Given the description of an element on the screen output the (x, y) to click on. 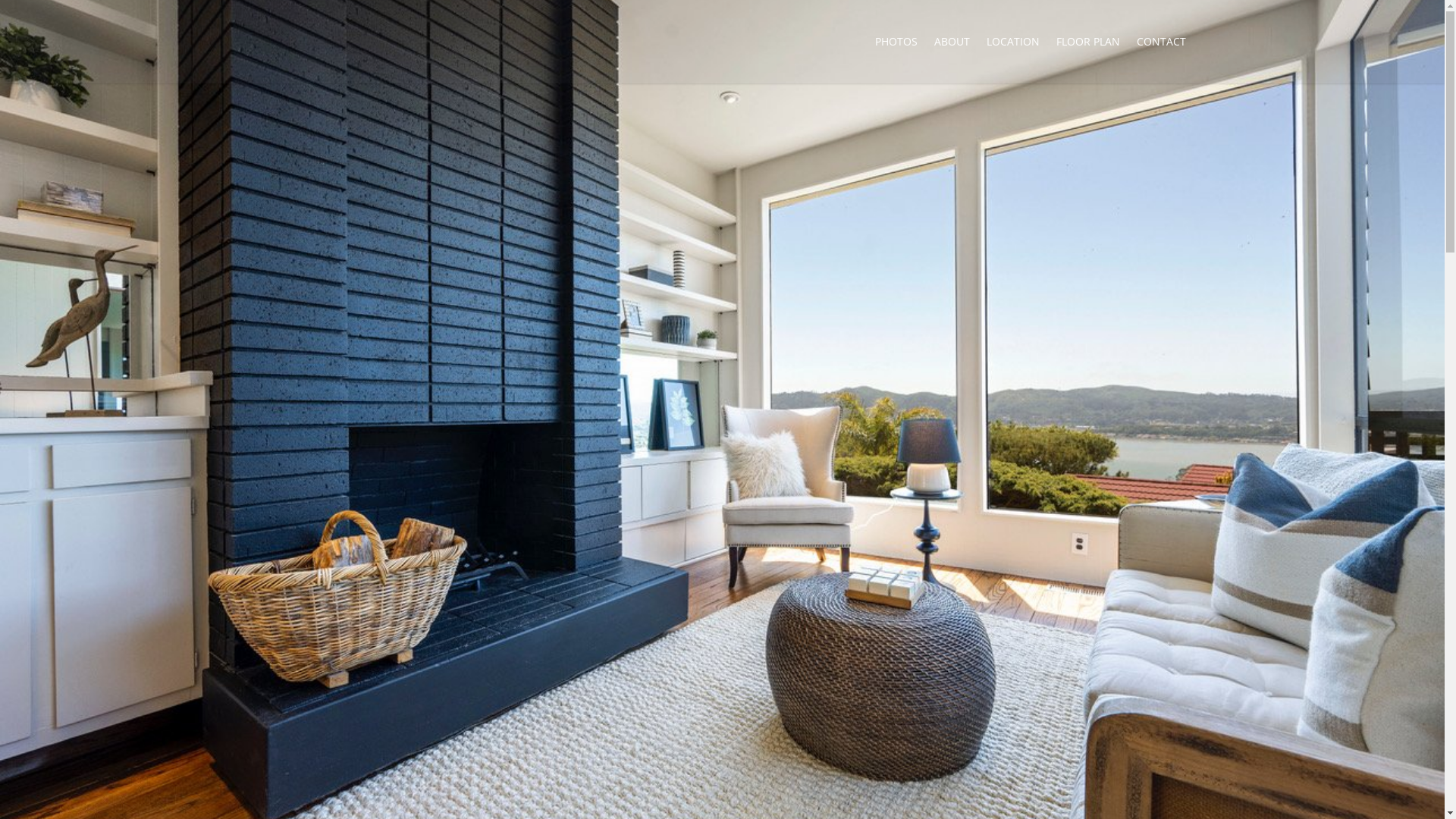
ABOUT Element type: text (951, 41)
LOCATION Element type: text (1013, 41)
FLOOR PLAN Element type: text (1087, 41)
PHOTOS Element type: text (896, 41)
CONTACT Element type: text (1161, 41)
